Given the description of an element on the screen output the (x, y) to click on. 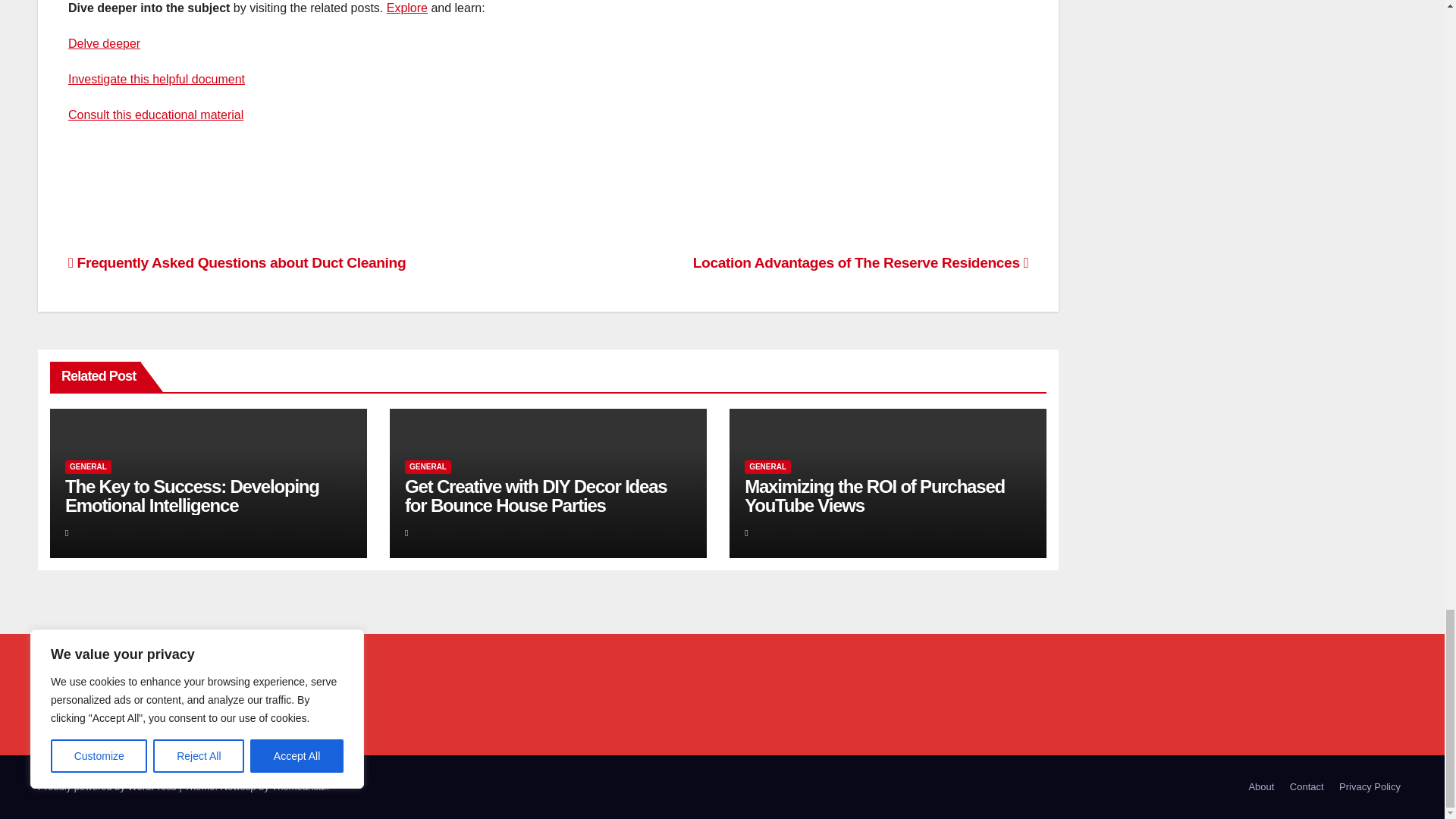
Get Creative with DIY Decor Ideas for Bounce House Parties (535, 495)
Contact (1307, 786)
About (1260, 786)
GENERAL (767, 467)
Location Advantages of The Reserve Residences (861, 262)
GENERAL (88, 467)
Explore (407, 7)
Investigate this helpful document (156, 78)
Delve deeper (103, 42)
Consult this educational material (155, 114)
The Key to Success: Developing Emotional Intelligence (191, 495)
Privacy Policy (1369, 786)
Permalink to: Maximizing the ROI of Purchased YouTube Views (874, 495)
